Given the description of an element on the screen output the (x, y) to click on. 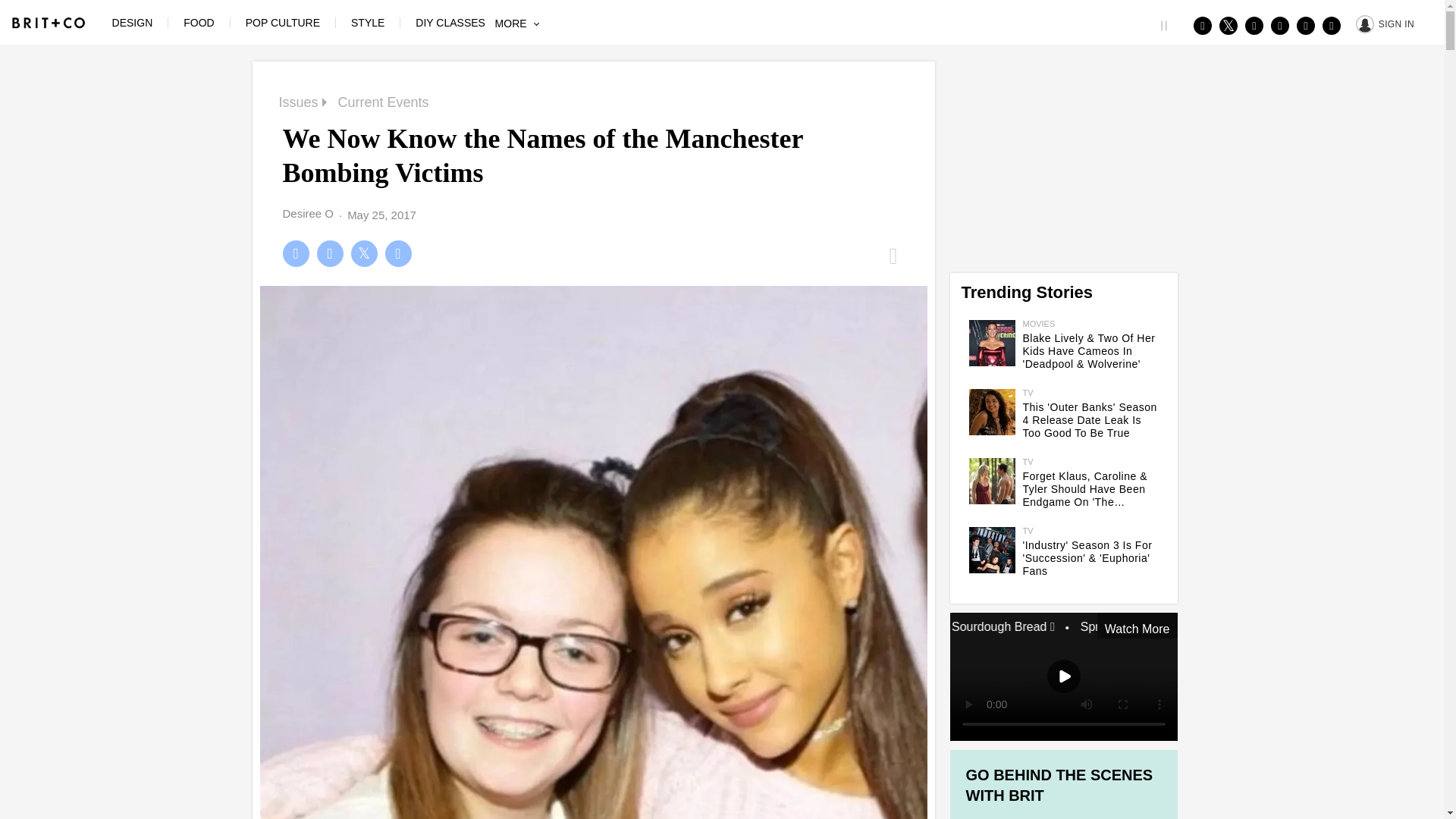
FOOD (198, 22)
3rd party ad content (1062, 155)
DIY CLASSES (449, 22)
SIGN IN (1384, 23)
STYLE (367, 22)
DESIGN (132, 22)
POP CULTURE (283, 22)
